Given the description of an element on the screen output the (x, y) to click on. 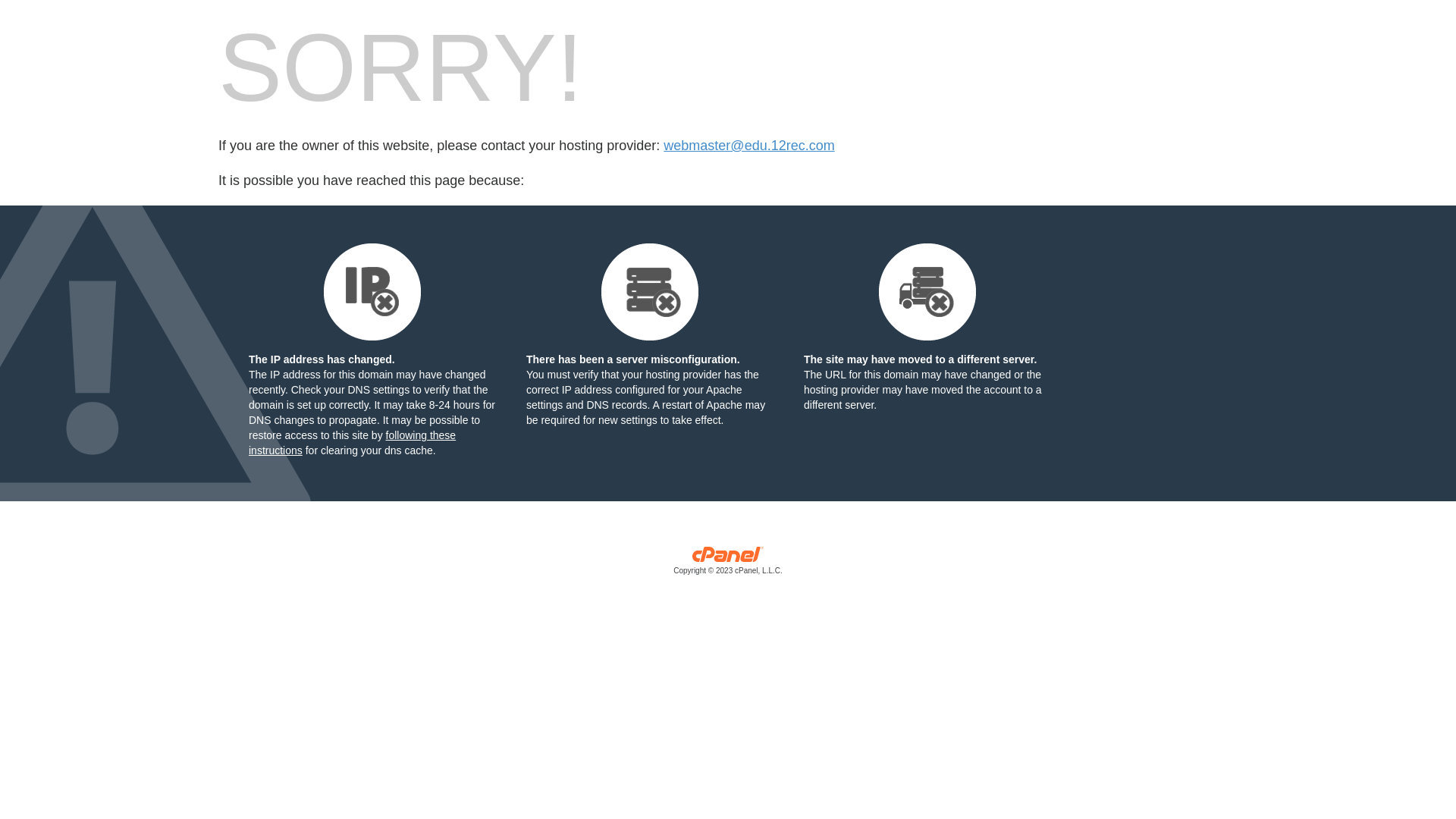
webmaster@edu.12rec.com Element type: text (748, 145)
following these instructions Element type: text (351, 442)
